Given the description of an element on the screen output the (x, y) to click on. 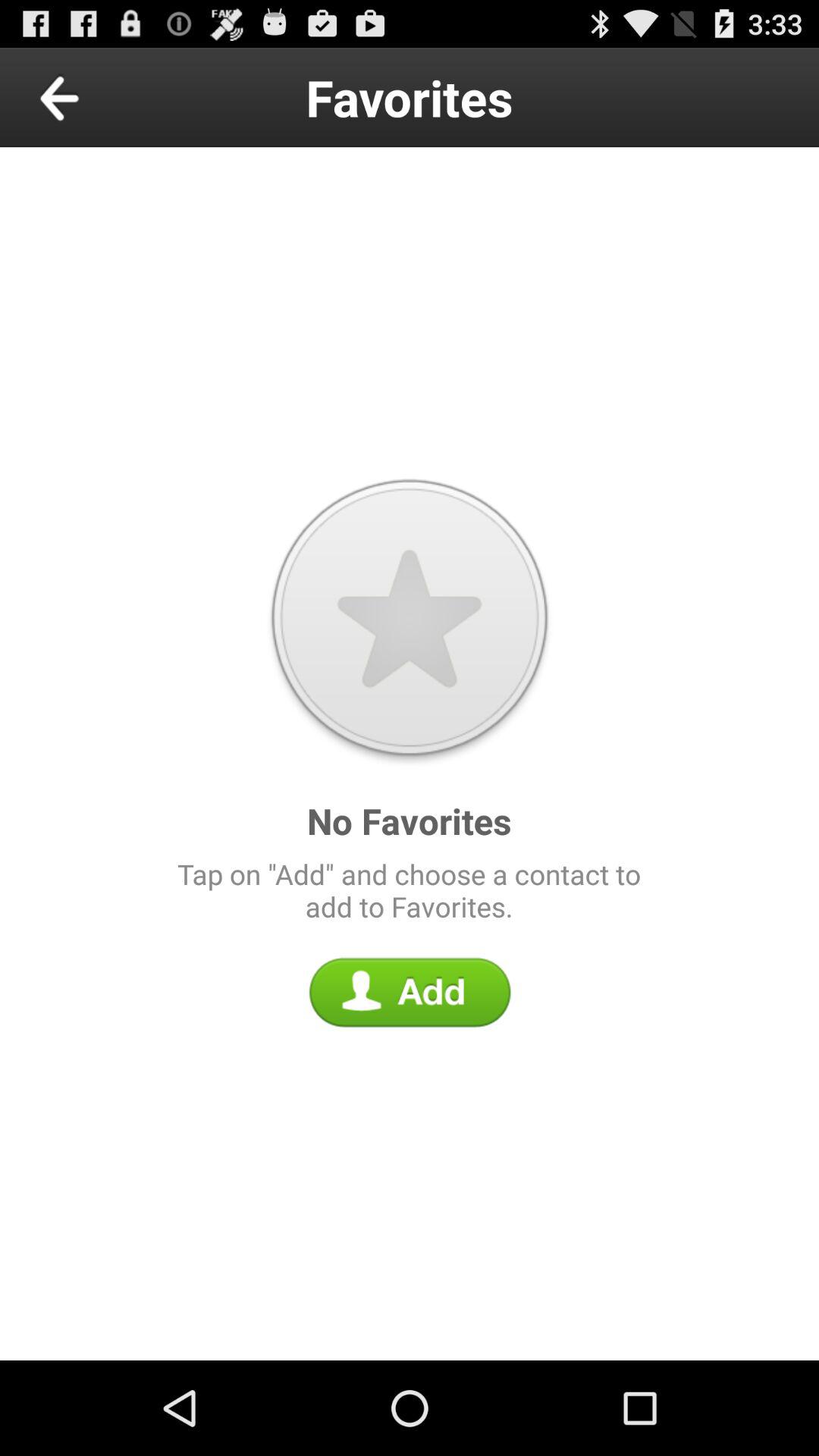
toggle add a person (409, 992)
